Given the description of an element on the screen output the (x, y) to click on. 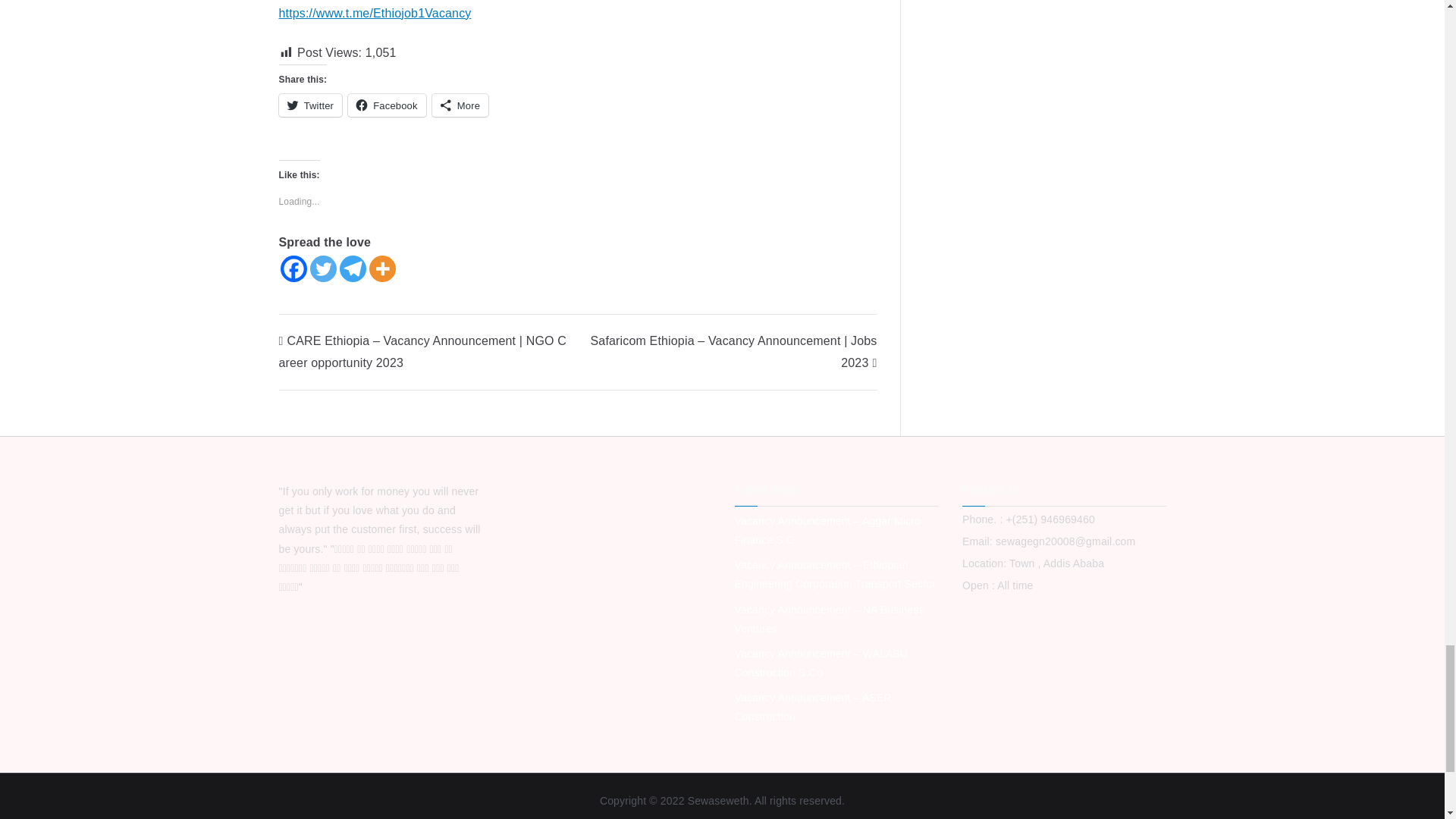
Facebook (294, 268)
More (459, 105)
More (381, 268)
Click to share on Twitter (310, 105)
Twitter (310, 105)
Click to share on Facebook (386, 105)
Telegram (352, 268)
Facebook (386, 105)
Twitter (322, 268)
